Given the description of an element on the screen output the (x, y) to click on. 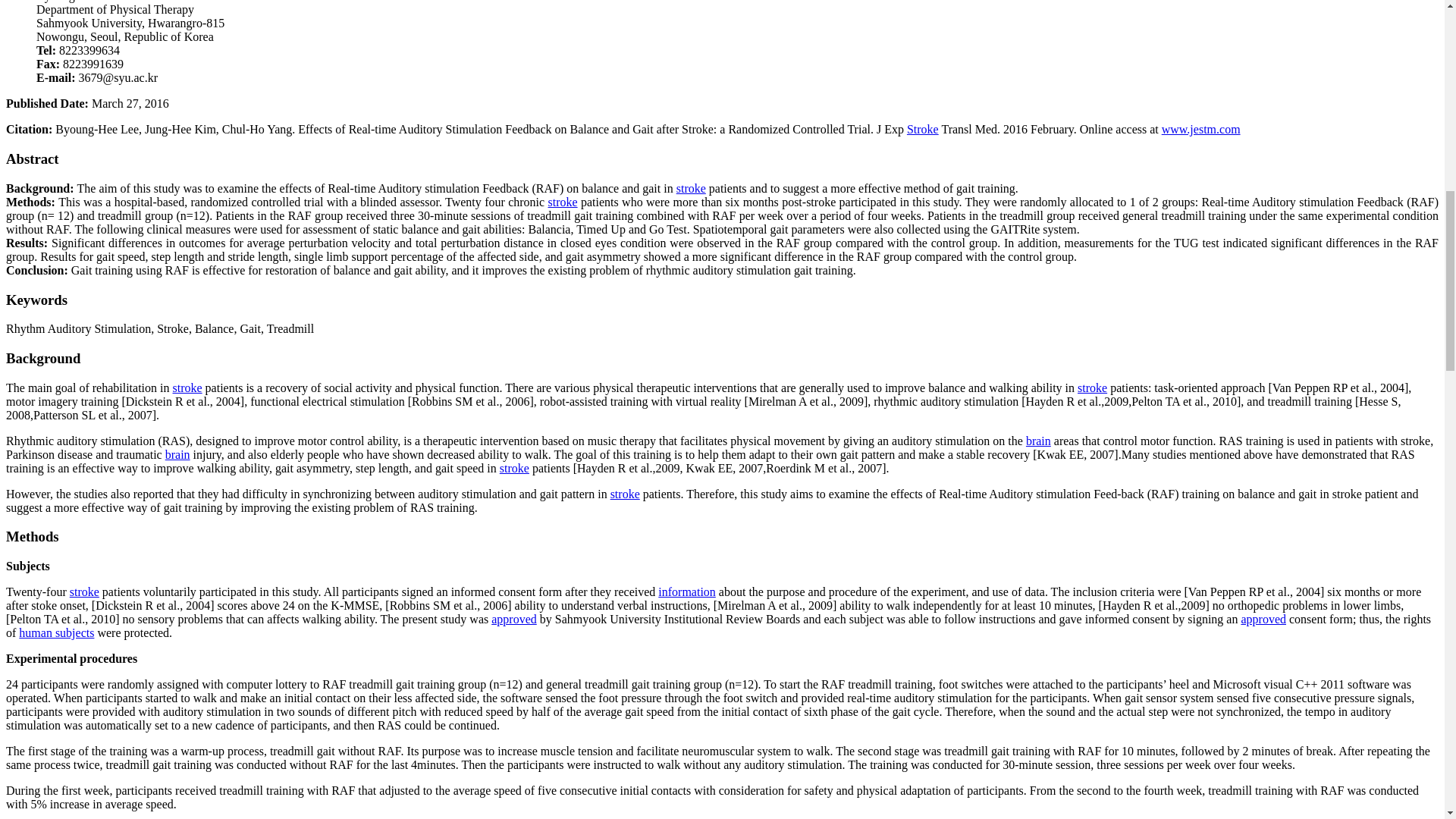
Stroke (923, 128)
stroke (563, 201)
stroke (691, 187)
www.jestm.com (1200, 128)
